Given the description of an element on the screen output the (x, y) to click on. 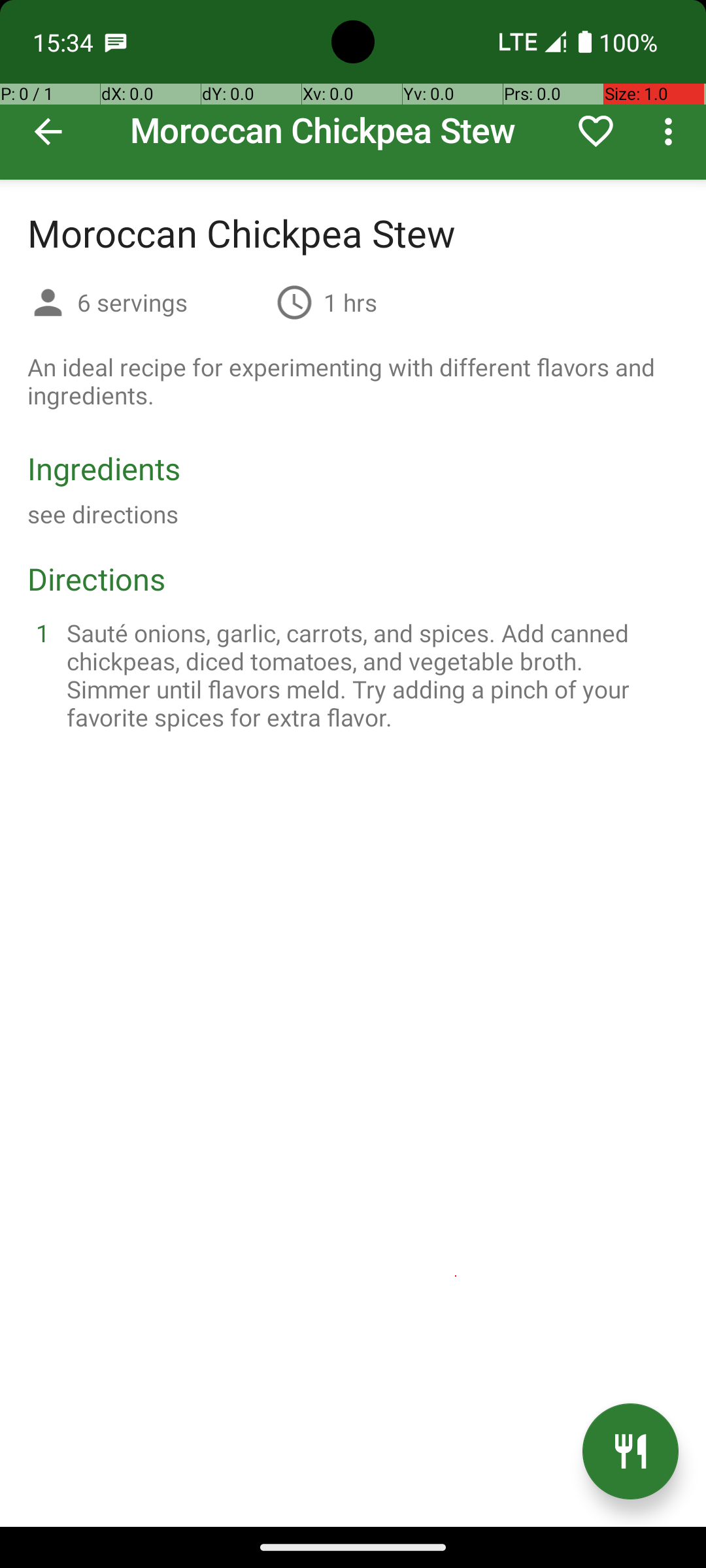
Sauté onions, garlic, carrots, and spices. Add canned chickpeas, diced tomatoes, and vegetable broth. Simmer until flavors meld. Try adding a pinch of your favorite spices for extra flavor. Element type: android.widget.TextView (368, 674)
